Given the description of an element on the screen output the (x, y) to click on. 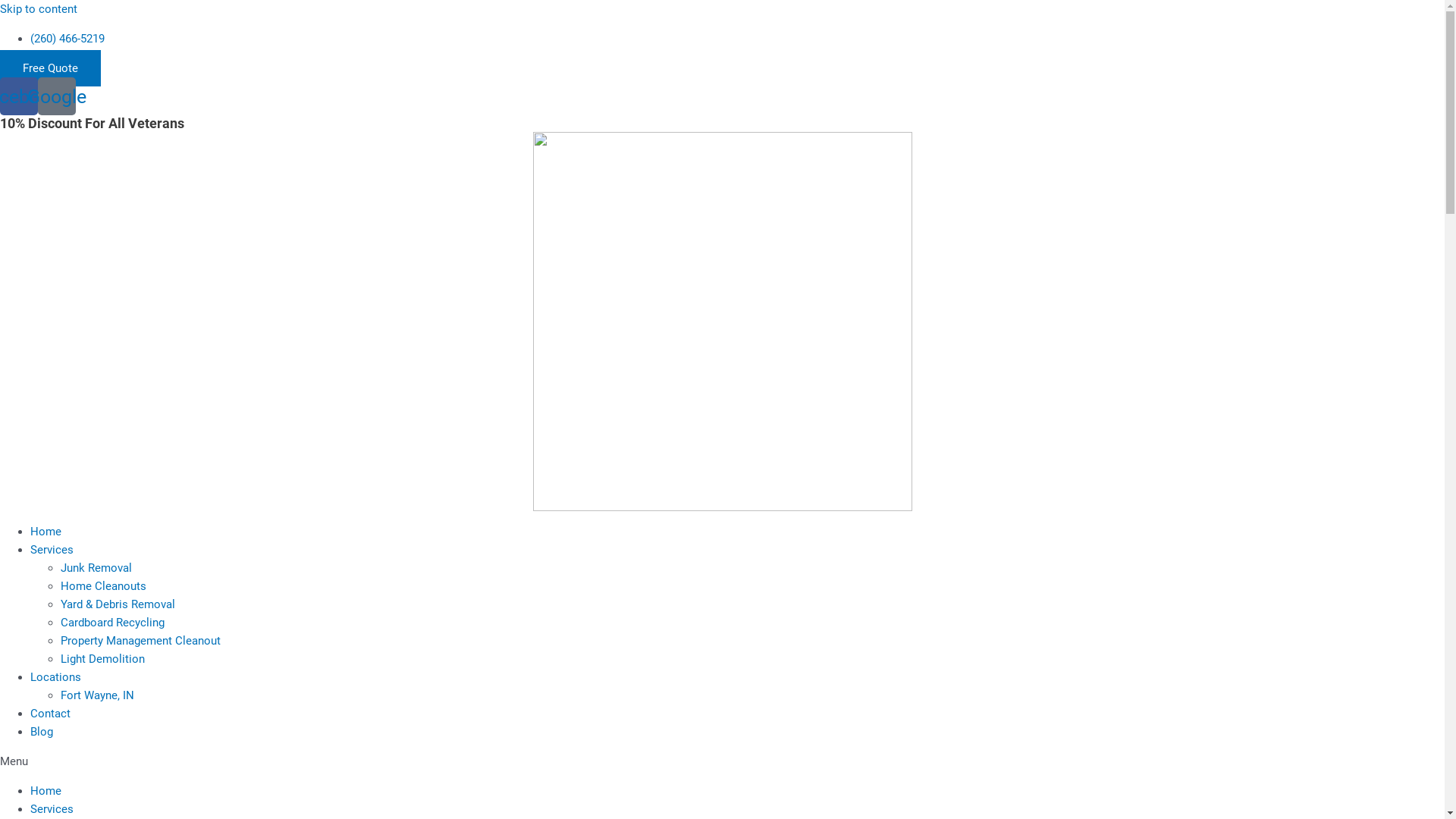
Locations Element type: text (55, 677)
Home Cleanouts Element type: text (103, 586)
Light Demolition Element type: text (102, 658)
Skip to content Element type: text (38, 8)
Services Element type: text (51, 808)
Facebook Element type: text (18, 96)
(260) 466-5219 Element type: text (67, 38)
Contact Element type: text (50, 713)
Services Element type: text (51, 549)
Property Management Cleanout Element type: text (140, 640)
Free Quote Element type: text (50, 68)
Fort Wayne, IN Element type: text (97, 695)
Blog Element type: text (41, 731)
Home Element type: text (45, 790)
Yard & Debris Removal Element type: text (117, 604)
Google Element type: text (56, 96)
Home Element type: text (45, 531)
Junk Removal Element type: text (95, 567)
Cardboard Recycling Element type: text (112, 622)
